Given the description of an element on the screen output the (x, y) to click on. 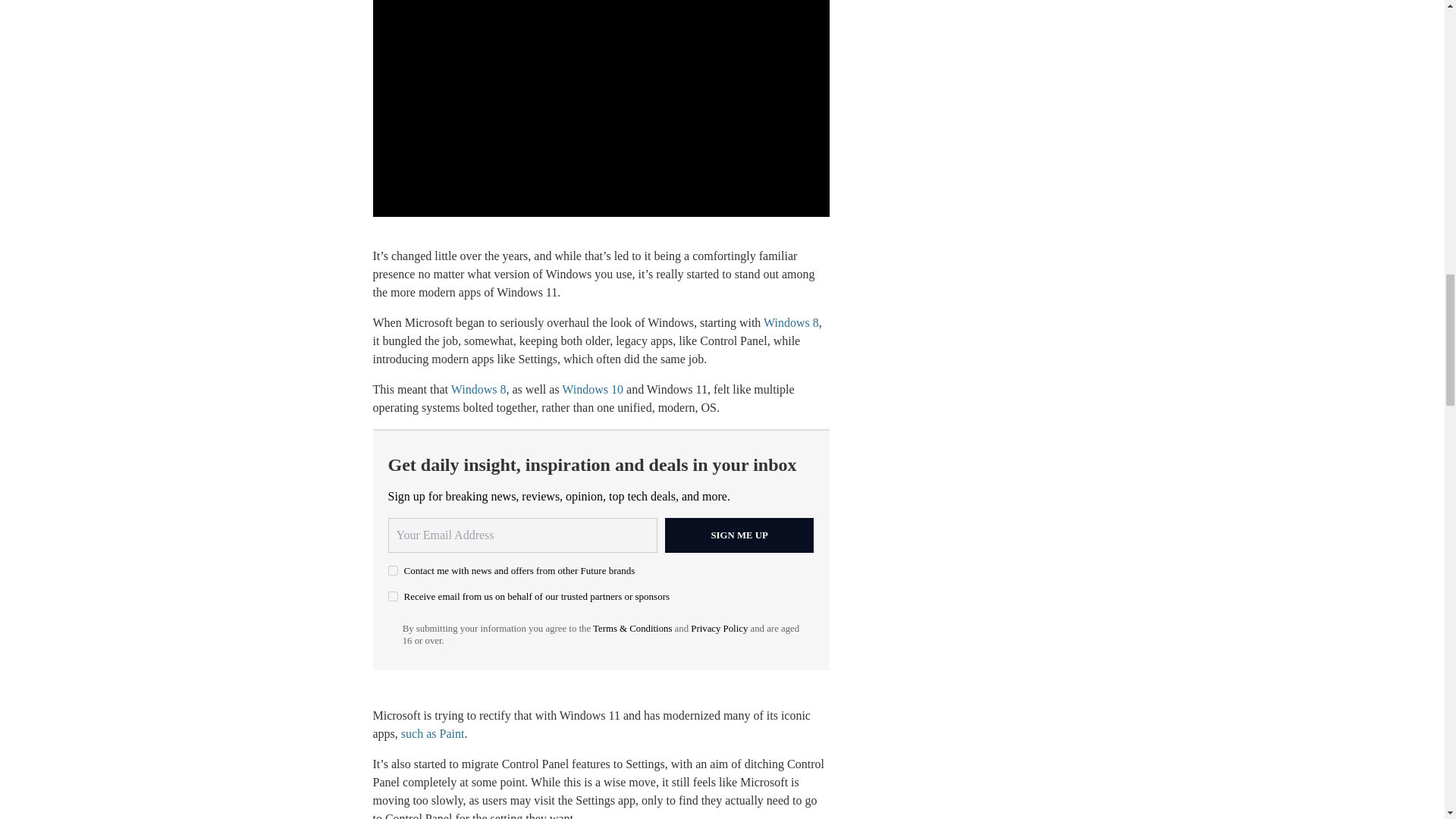
on (392, 570)
on (392, 596)
Sign me up (739, 534)
